Given the description of an element on the screen output the (x, y) to click on. 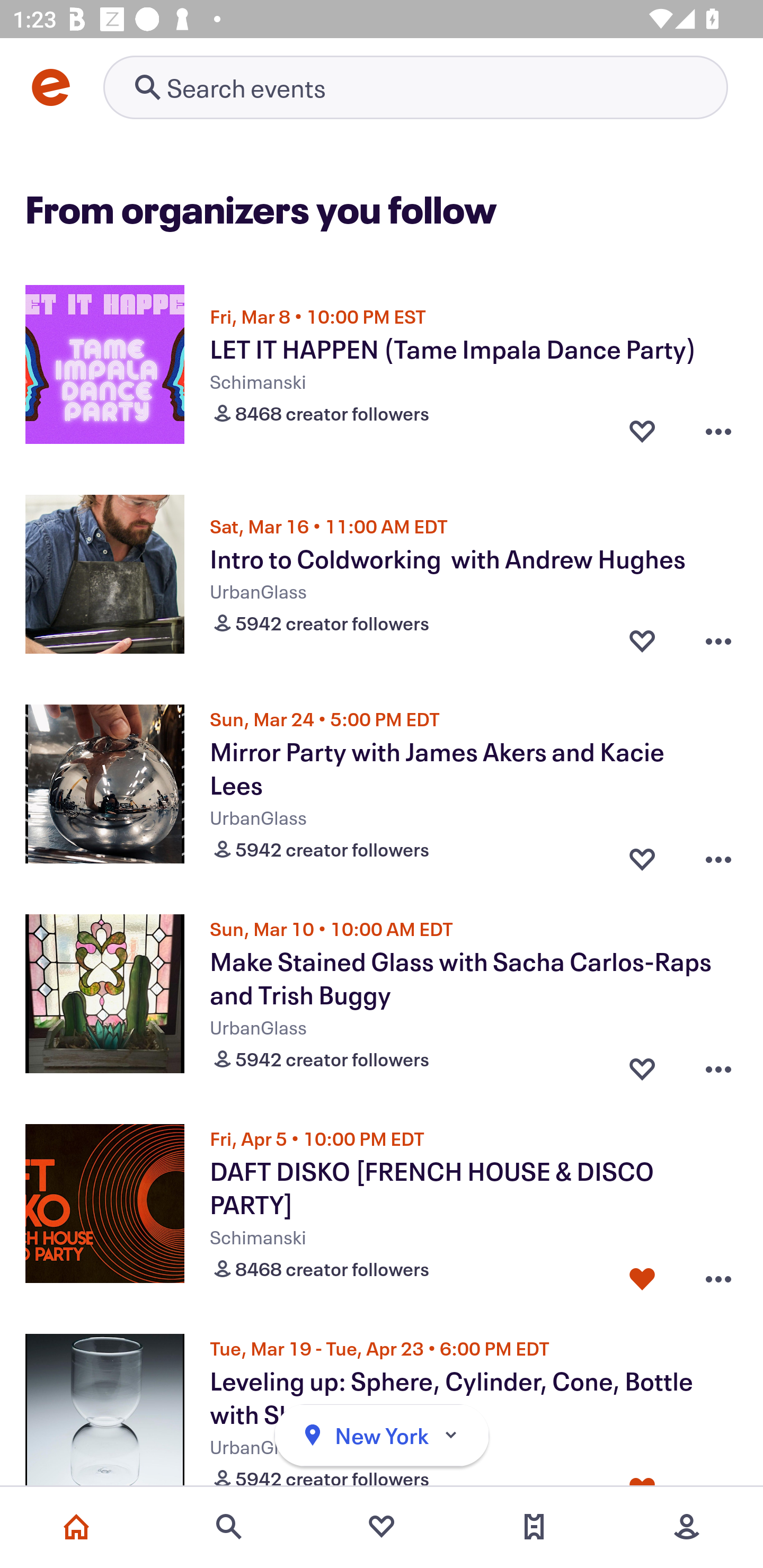
Retry's image Search events (415, 86)
Favorite button (642, 430)
Overflow menu button (718, 430)
Favorite button (642, 640)
Overflow menu button (718, 640)
Favorite button (642, 855)
Overflow menu button (718, 855)
Favorite button (642, 1065)
Overflow menu button (718, 1065)
Favorite button (642, 1274)
Overflow menu button (718, 1274)
New York (381, 1435)
Home (76, 1526)
Search events (228, 1526)
Favorites (381, 1526)
Tickets (533, 1526)
More (686, 1526)
